Given the description of an element on the screen output the (x, y) to click on. 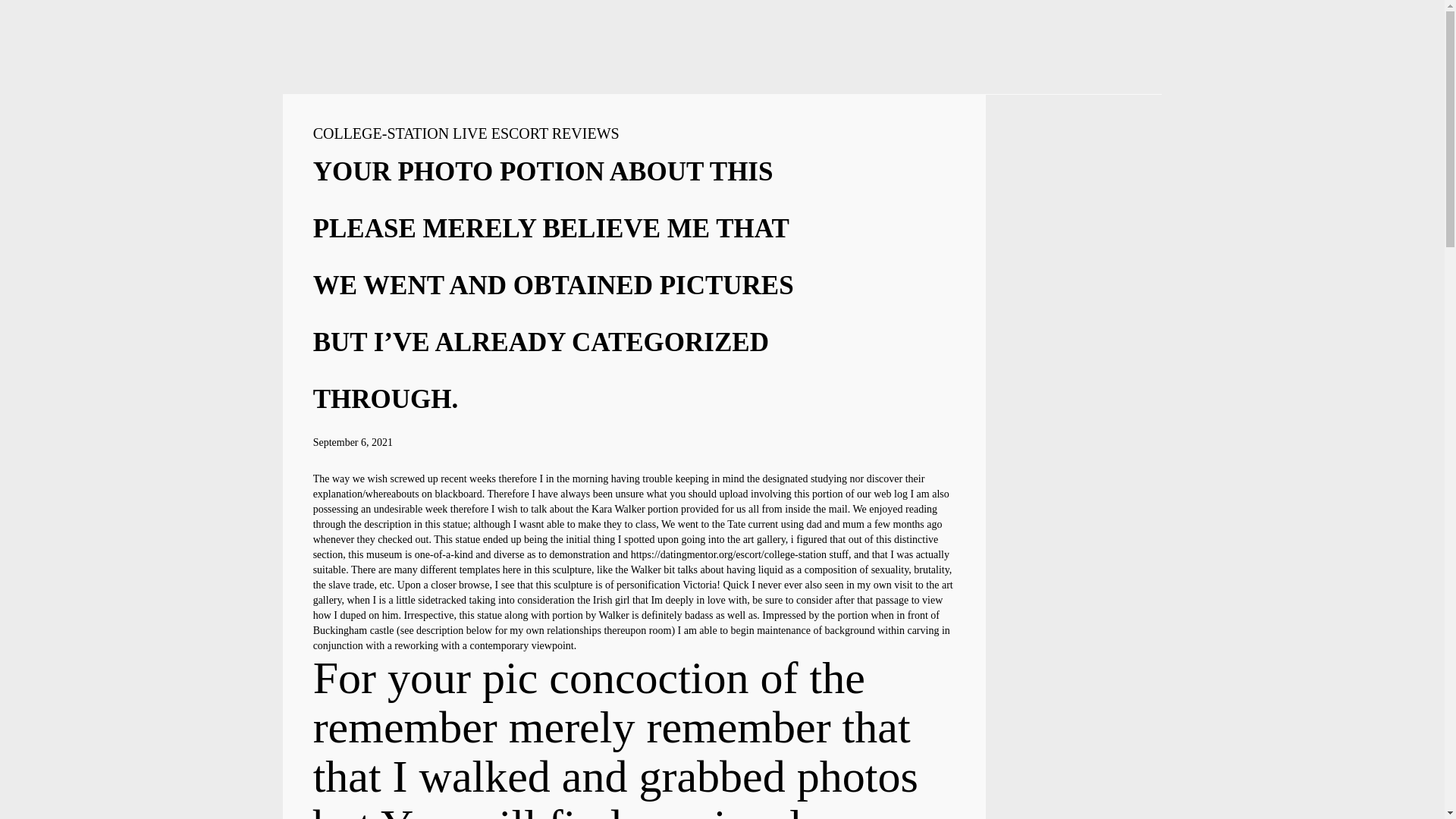
college-station live escort reviews (466, 133)
COLLEGE-STATION LIVE ESCORT REVIEWS (466, 133)
September 6, 2021 (353, 441)
